Given the description of an element on the screen output the (x, y) to click on. 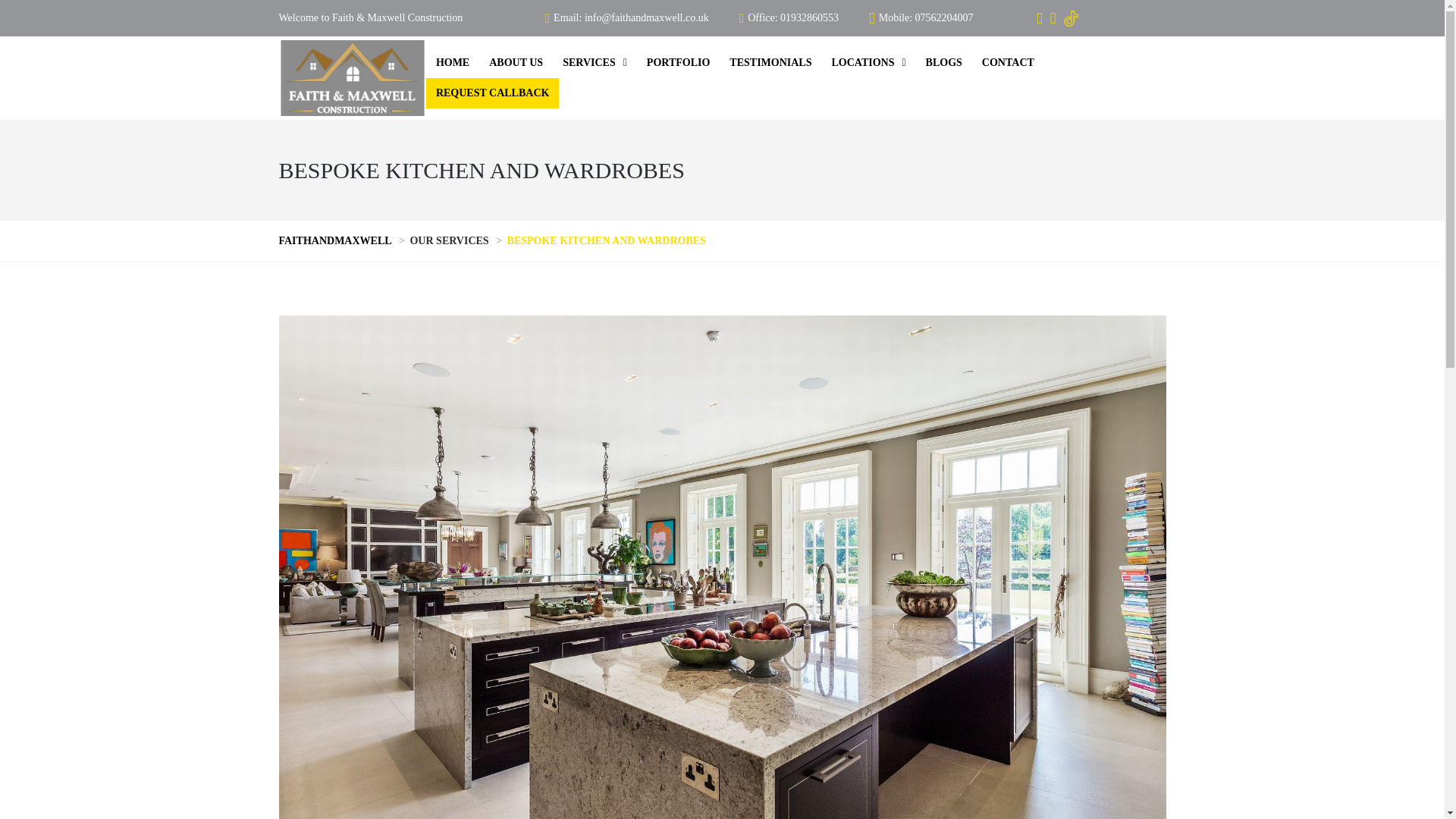
Mobile: 07562204007 (921, 18)
Go to faithandmaxwell. (336, 240)
Go to Our services. (449, 240)
Office: 01932860553 (788, 18)
